Given the description of an element on the screen output the (x, y) to click on. 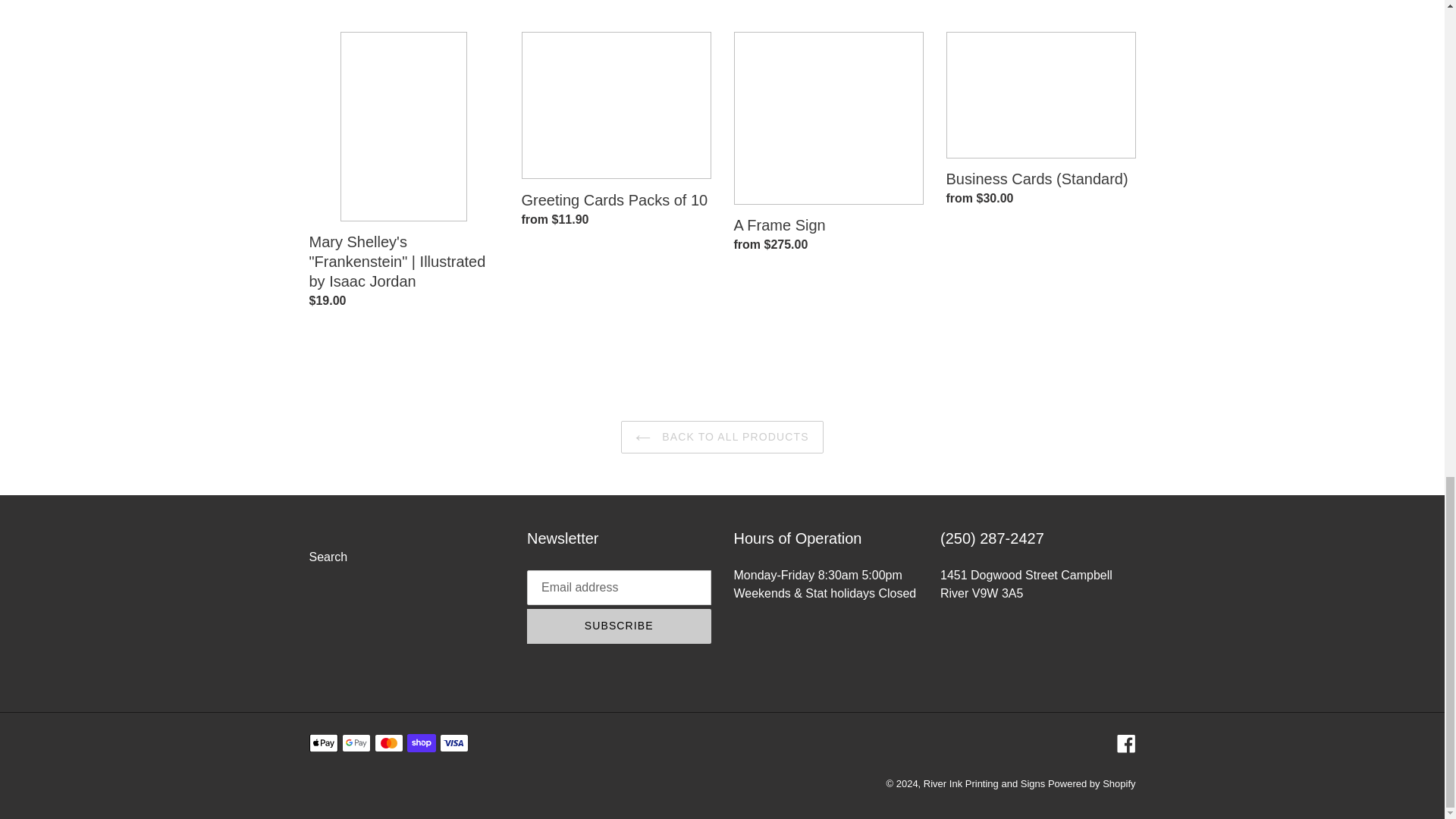
Greeting Cards Packs of 10 (616, 132)
